Given the description of an element on the screen output the (x, y) to click on. 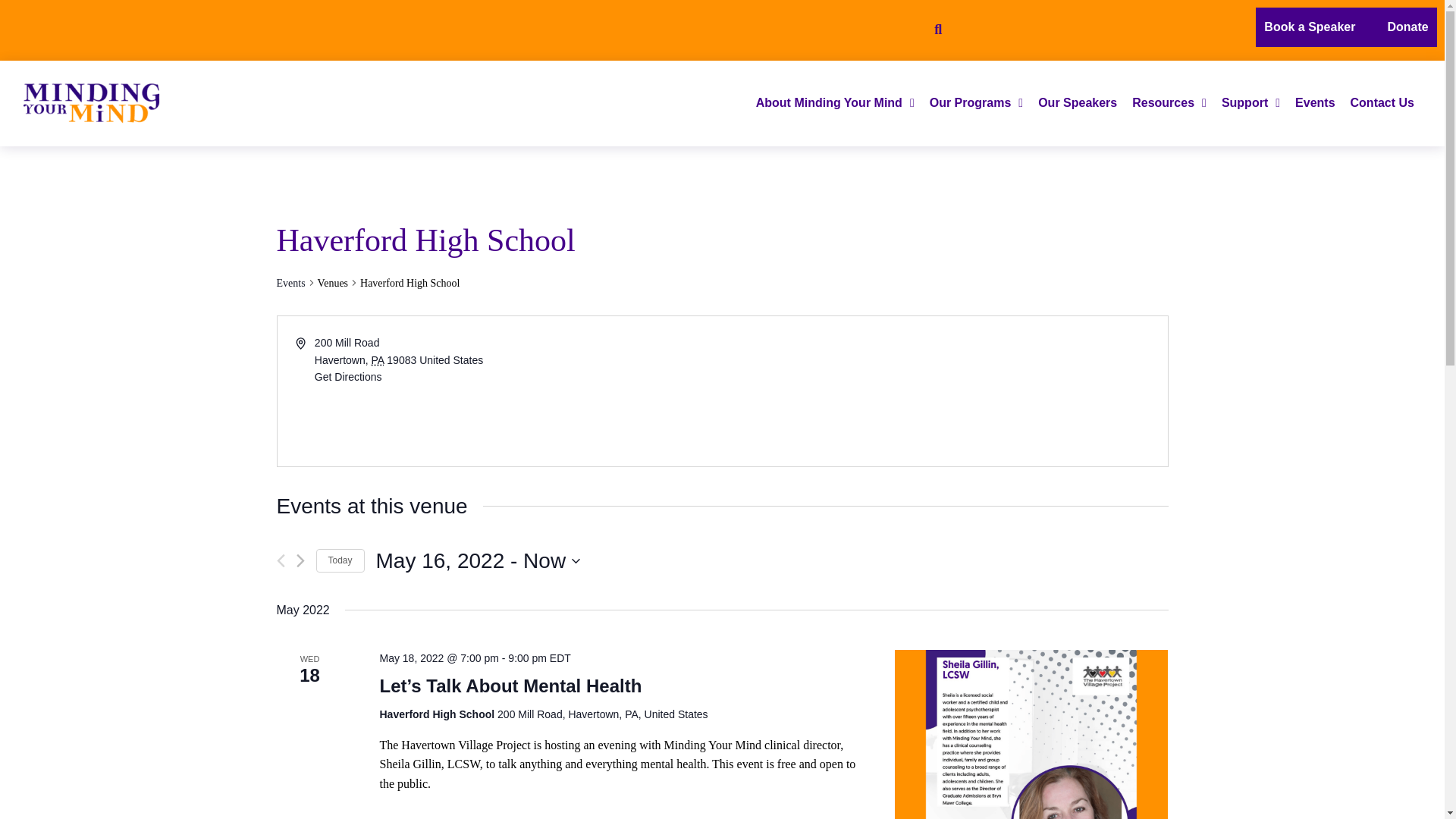
About Minding Your Mind (834, 102)
Support (1250, 102)
Resources (1169, 102)
Book a Speaker (1309, 26)
Click to toggle datepicker (477, 561)
Donate (1406, 26)
Our Speakers (1077, 102)
Our Programs (975, 102)
Pennsylvania (377, 359)
Click to select today's date (339, 560)
